Given the description of an element on the screen output the (x, y) to click on. 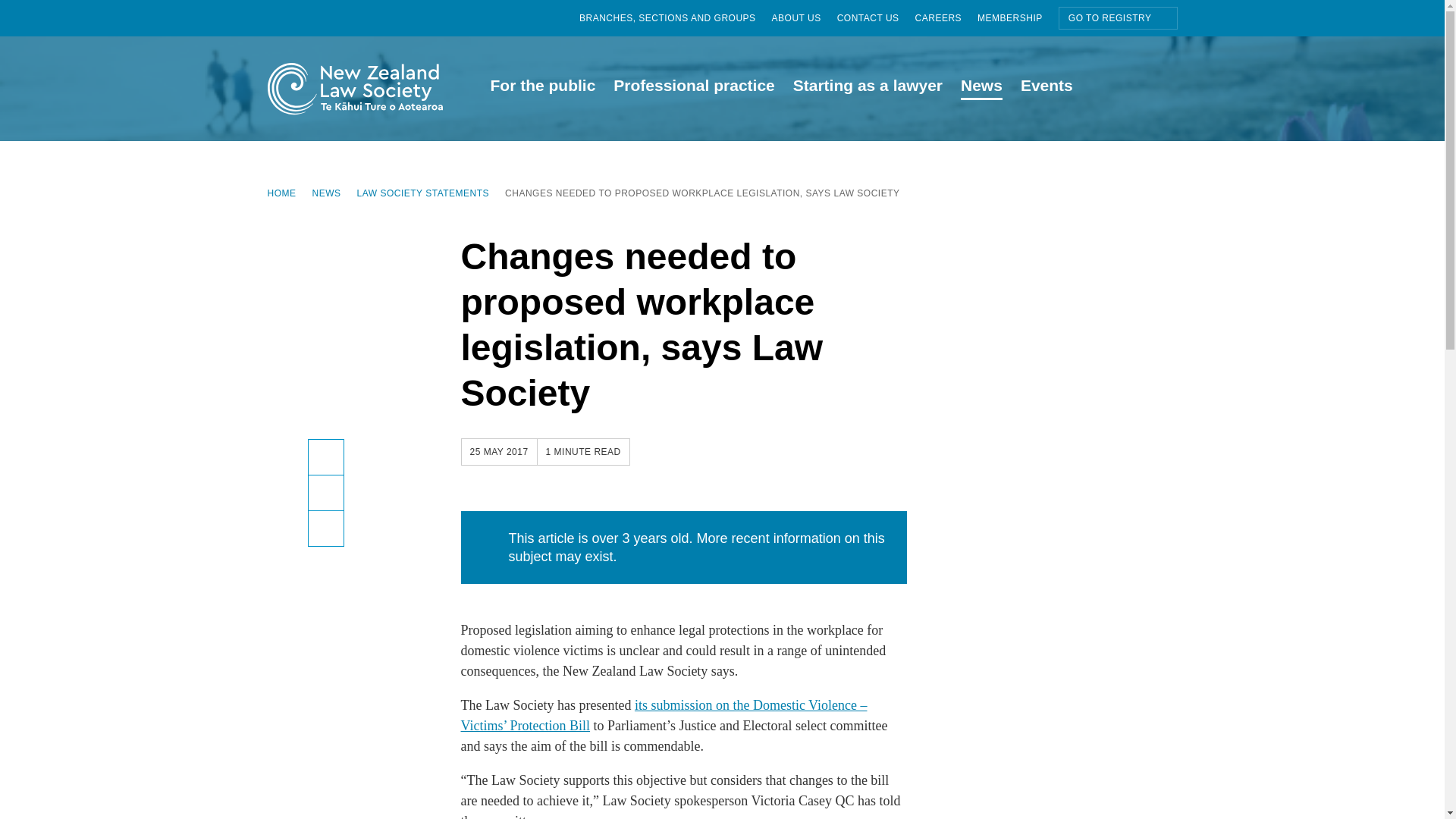
MEMBERSHIP (1017, 18)
Professional practice (693, 88)
CAREERS (946, 18)
BRANCHES, SECTIONS AND GROUPS (675, 18)
ABOUT US (804, 18)
CONTACT US (876, 18)
Search button (1167, 86)
GO TO REGISTRY (1117, 17)
For the public (542, 88)
